Given the description of an element on the screen output the (x, y) to click on. 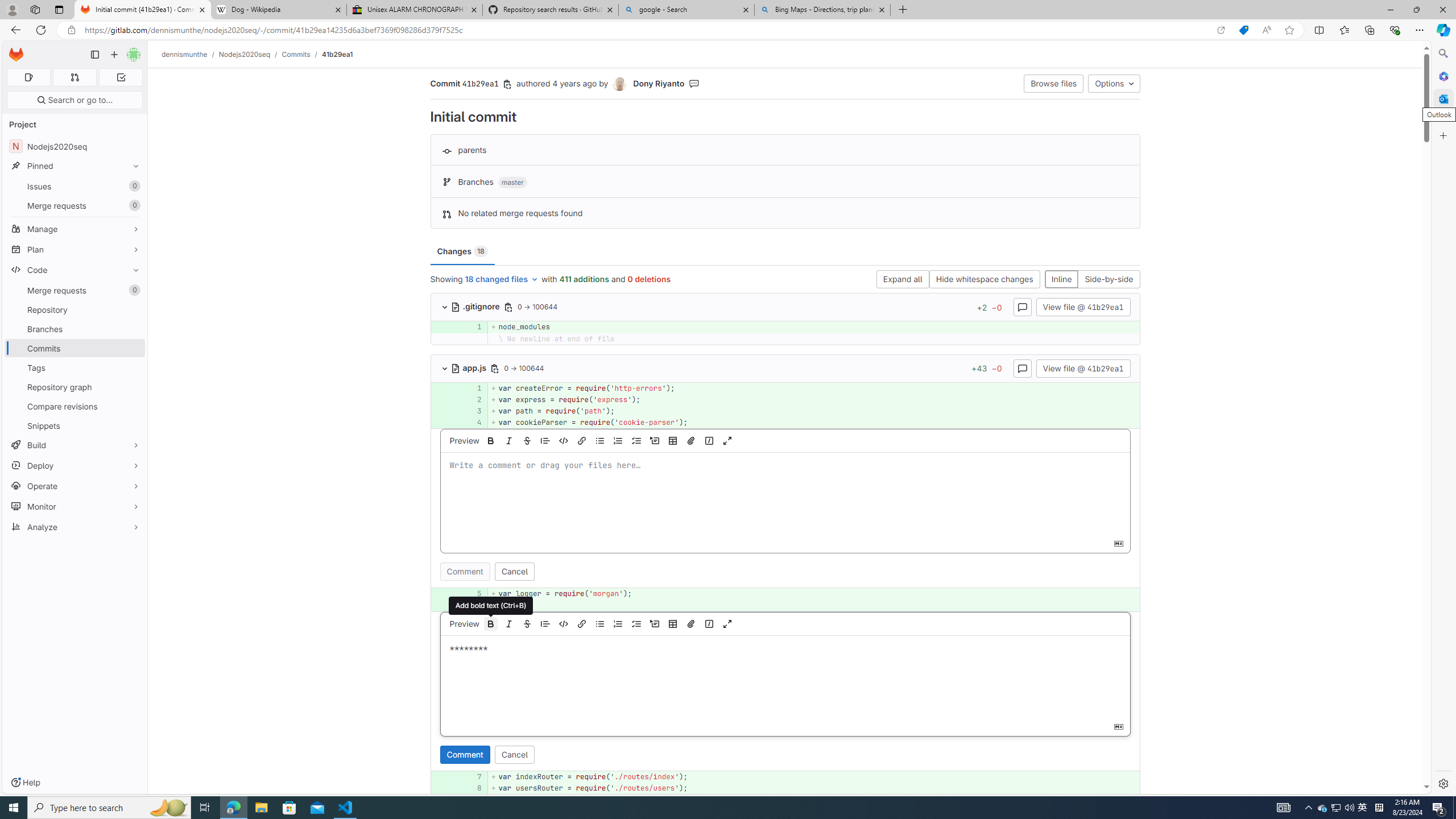
7 (472, 776)
Merge requests 0 (74, 76)
Add a numbered list (617, 623)
6 (471, 605)
Preview (463, 623)
Unpin Merge requests (132, 290)
+ var cookieParser = require('cookie-parser');  (813, 422)
app.js  (470, 367)
Toggle comments for this file (1022, 367)
Copy commit SHA (507, 83)
Class: notes_holder js-temp-notes-holder (785, 690)
google - Search (685, 9)
